Given the description of an element on the screen output the (x, y) to click on. 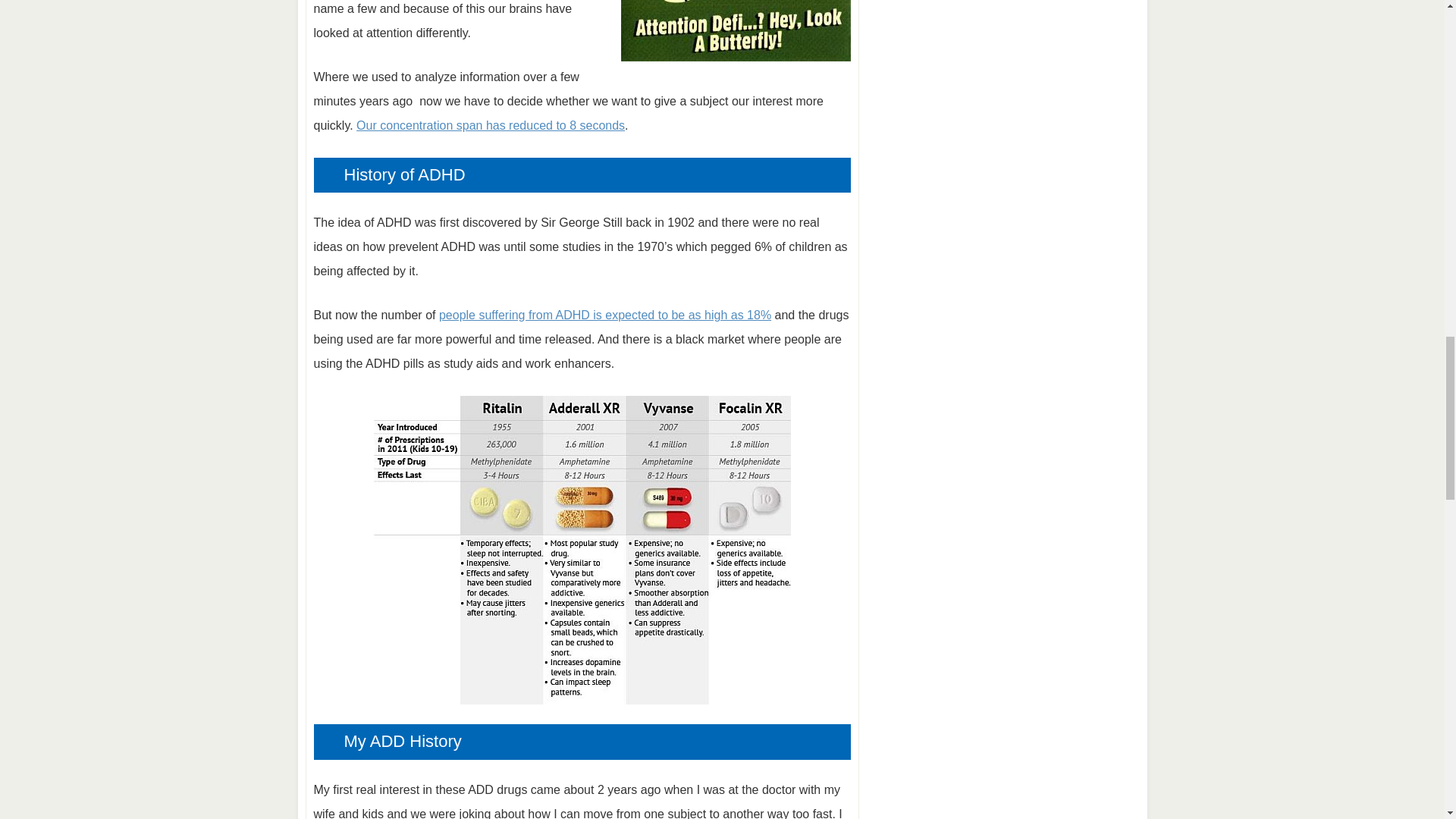
Our concentration span has reduced to 8 seconds (490, 124)
ADD and Butterflies (735, 30)
ADHD Medication Comparison (581, 549)
